Given the description of an element on the screen output the (x, y) to click on. 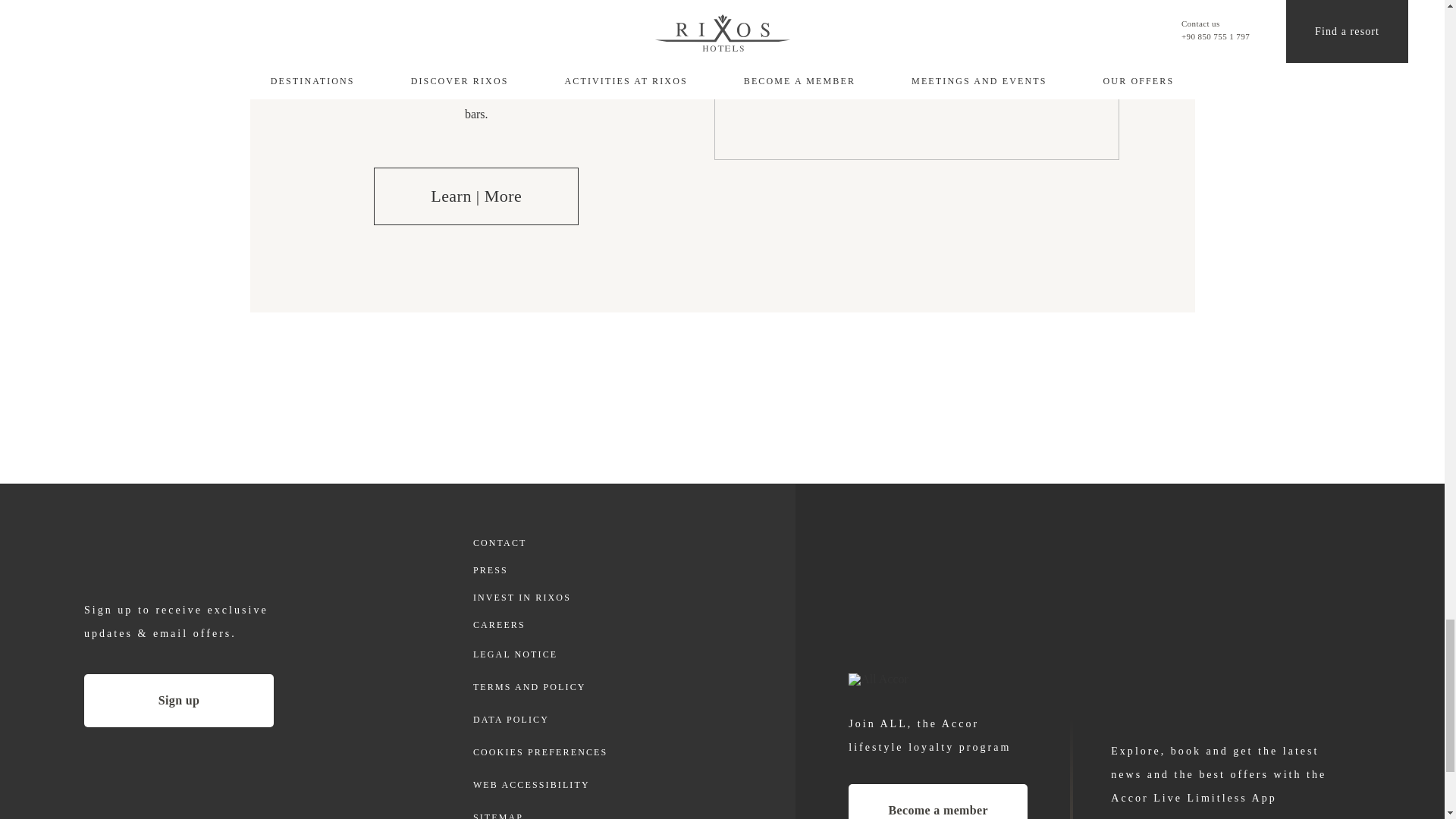
Rixos - homepage (184, 557)
Why invest in Rixos Hotels (540, 597)
Rixos Press (540, 570)
